Given the description of an element on the screen output the (x, y) to click on. 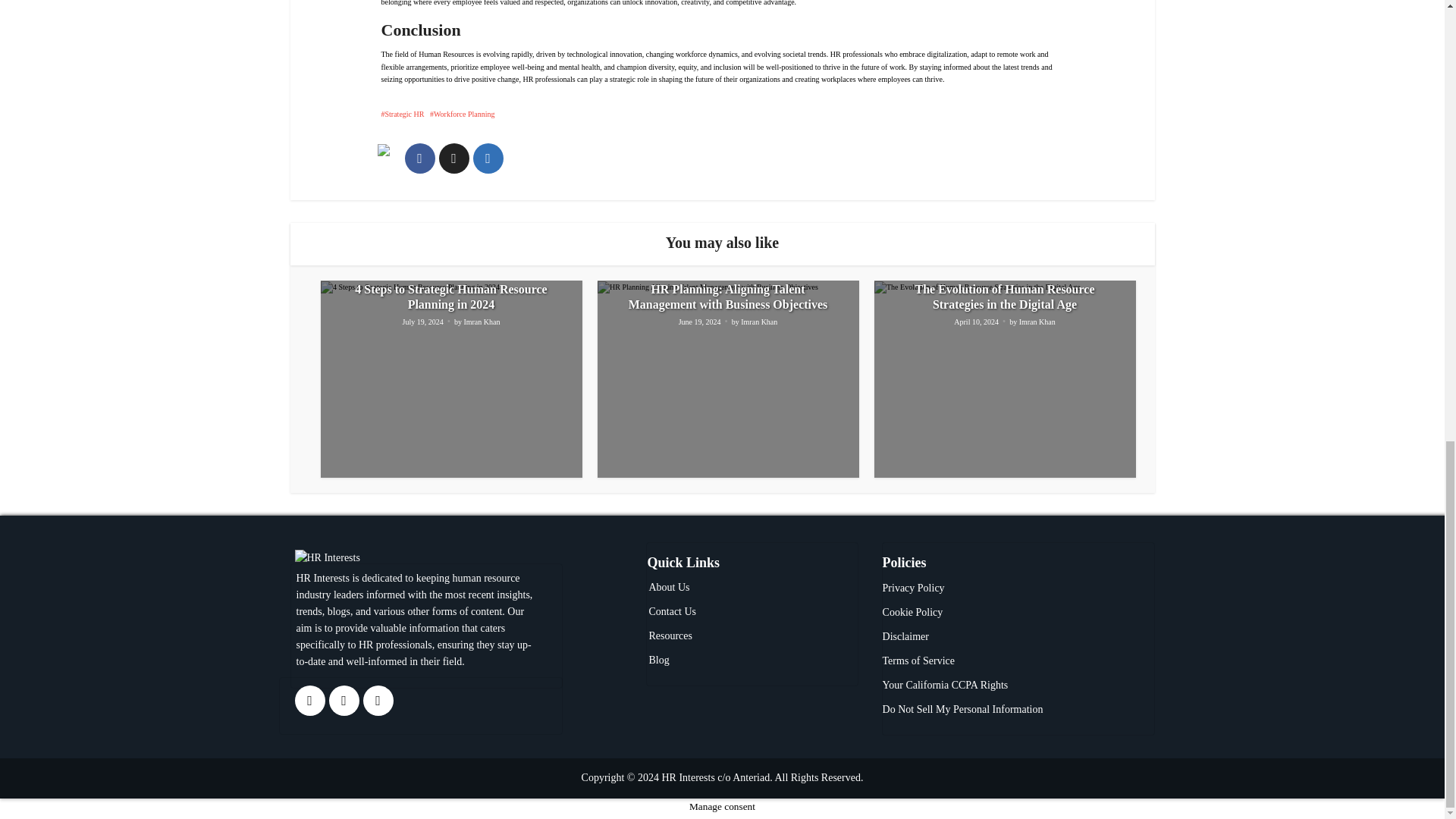
Linkedin (377, 700)
Imran Khan (481, 322)
Facebook (344, 700)
Strategic HR (401, 113)
4 Steps to Strategic Human Resource Planning in 2024 (450, 296)
Workforce Planning (462, 113)
4 Steps to Strategic Human Resource Planning in 2024 (450, 296)
